Given the description of an element on the screen output the (x, y) to click on. 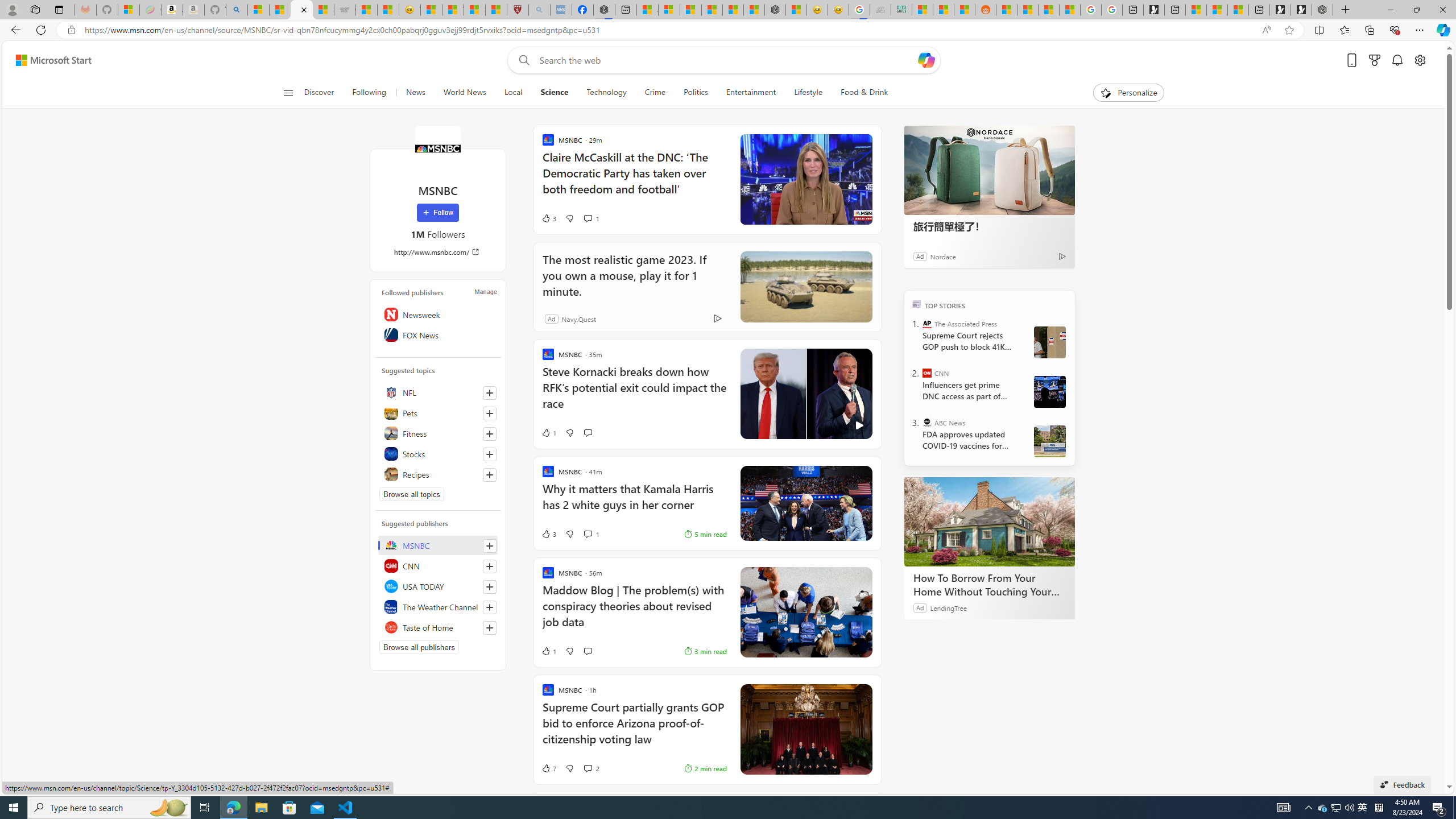
Lifestyle (807, 92)
Navy Quest (879, 9)
World News (464, 92)
Entertainment (750, 92)
Lifestyle (807, 92)
News (415, 92)
Following (370, 92)
3 Like (547, 533)
Class: button-glyph (287, 92)
DITOGAMES AG Imprint (901, 9)
MSNBC (437, 148)
